Given the description of an element on the screen output the (x, y) to click on. 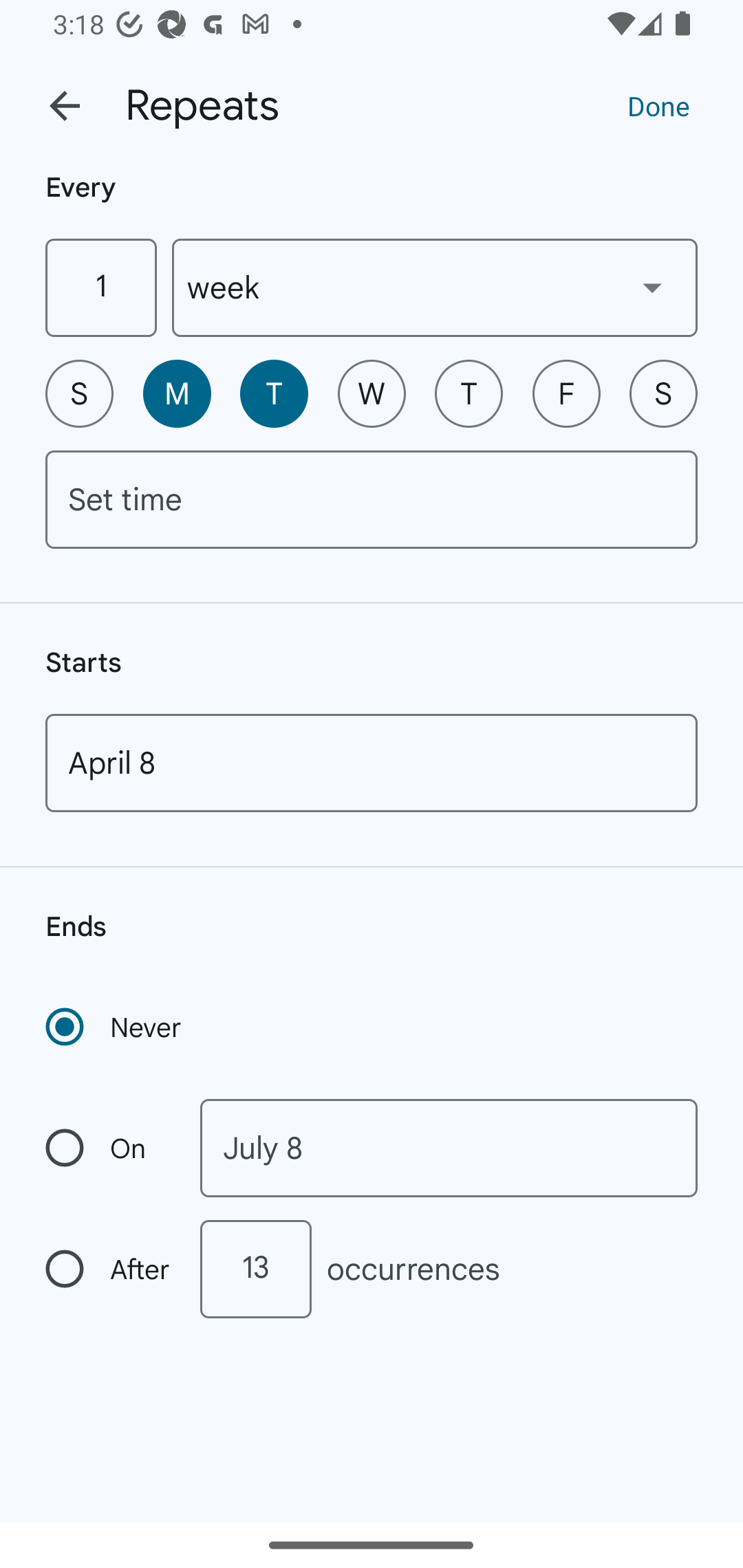
Back (64, 105)
Done (658, 105)
1 (100, 287)
week (434, 287)
Show dropdown menu (652, 286)
S Sunday (79, 393)
M Monday, selected (177, 393)
T Tuesday, selected (273, 393)
W Wednesday (371, 393)
T Thursday (468, 393)
F Friday (566, 393)
S Saturday (663, 393)
Set time (371, 499)
April 8 (371, 762)
Never Recurrence never ends (115, 1026)
July 8 (448, 1148)
On Recurrence ends on a specific date (109, 1148)
13 (255, 1268)
